Given the description of an element on the screen output the (x, y) to click on. 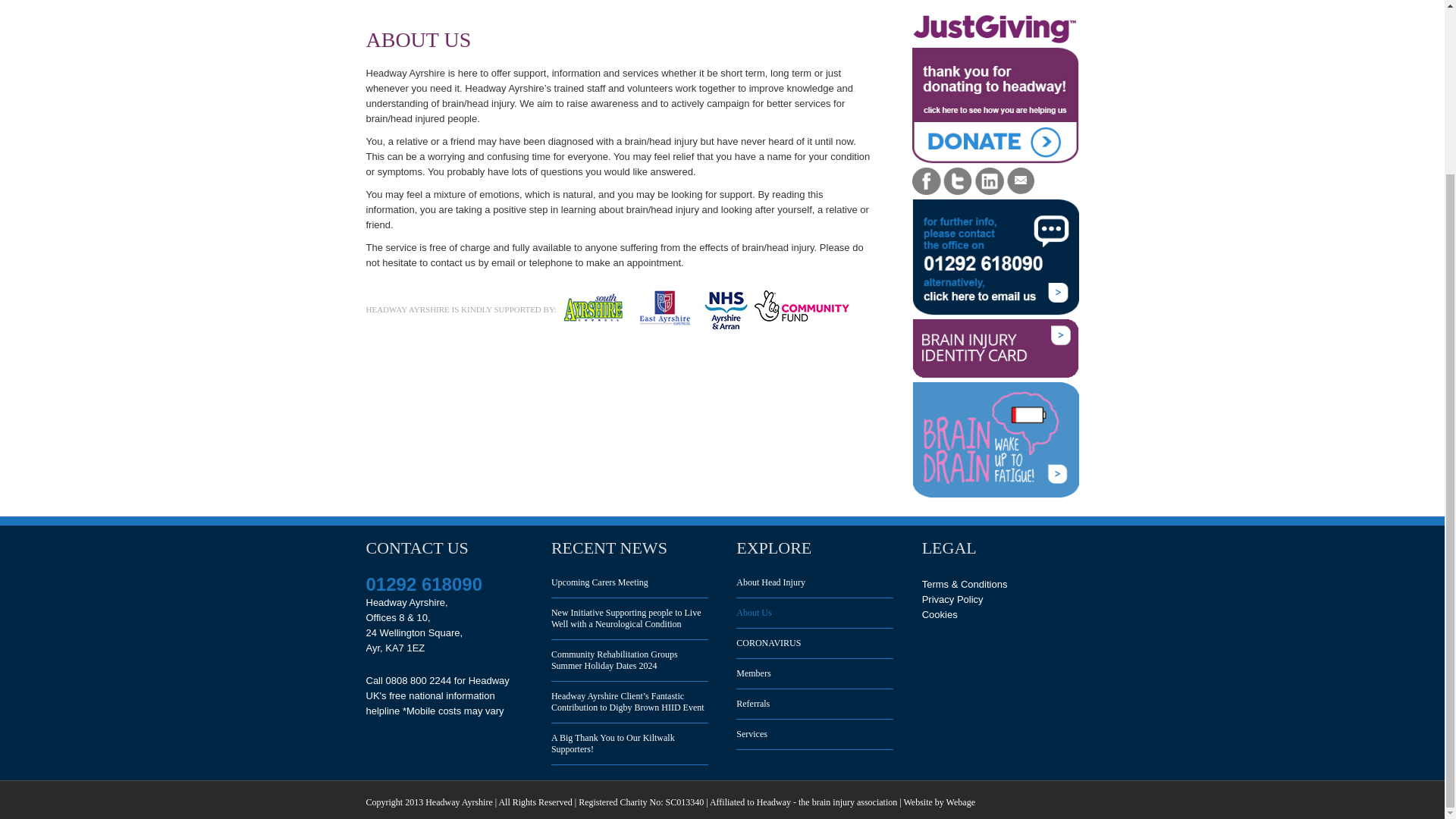
Linkedin (989, 173)
Donate to Headway Ayrshire (994, 88)
Linkedin (989, 181)
Contact (1020, 181)
Twitter (957, 181)
Brain Draine (994, 439)
Facebook (925, 181)
Contact Us (994, 257)
Facebook (925, 173)
Contact (1020, 173)
Brain Injury ID Card (994, 348)
Upcoming Carers Meeting (629, 587)
Twitter (957, 173)
